Given the description of an element on the screen output the (x, y) to click on. 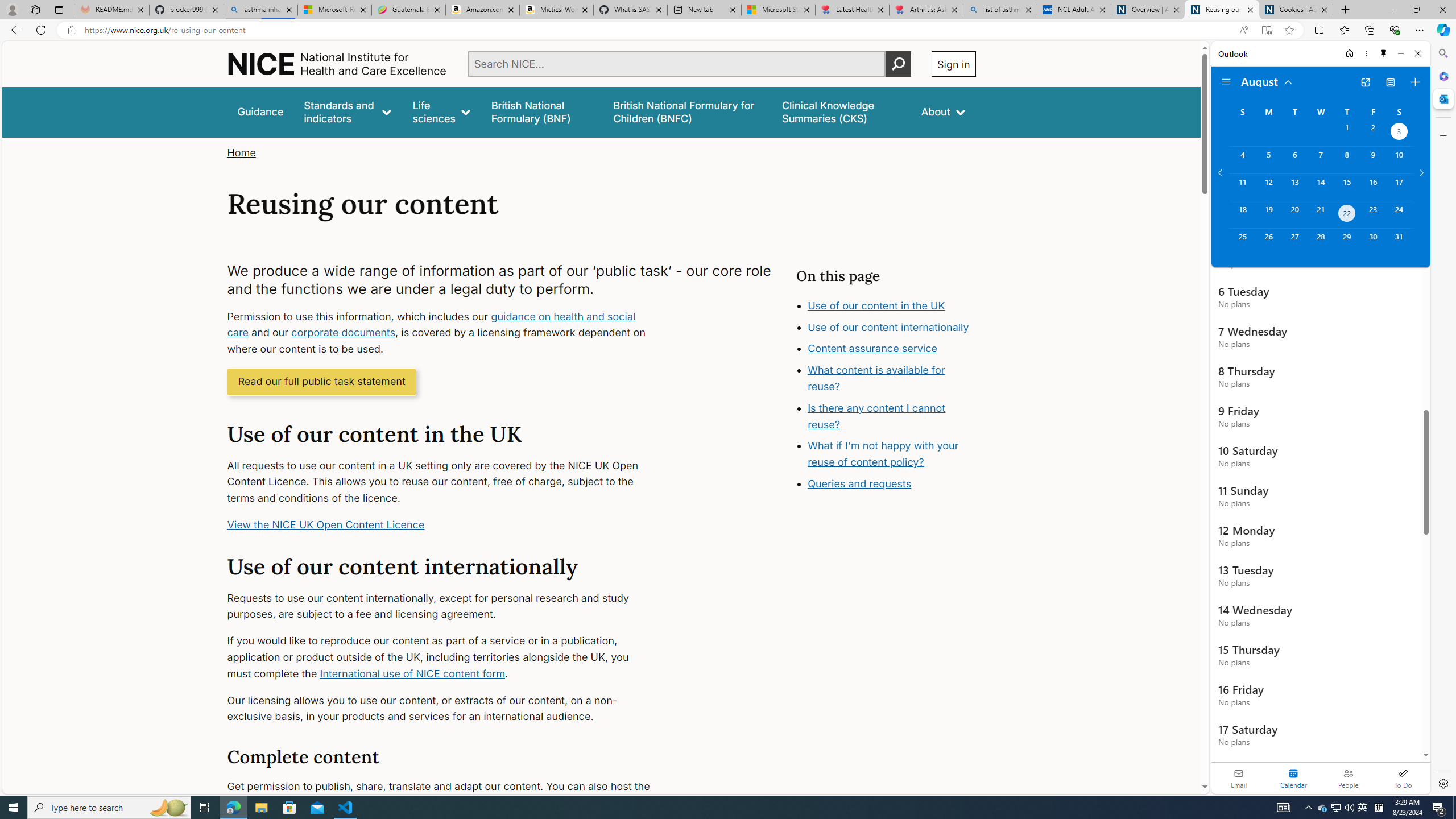
To Do (1402, 777)
Is there any content I cannot reuse? (877, 415)
asthma inhaler - Search (260, 9)
Is there any content I cannot reuse? (896, 449)
Saturday, August 10, 2024.  (1399, 159)
Email (1238, 777)
Friday, August 16, 2024.  (1372, 186)
Monday, August 12, 2024.  (1268, 186)
